Given the description of an element on the screen output the (x, y) to click on. 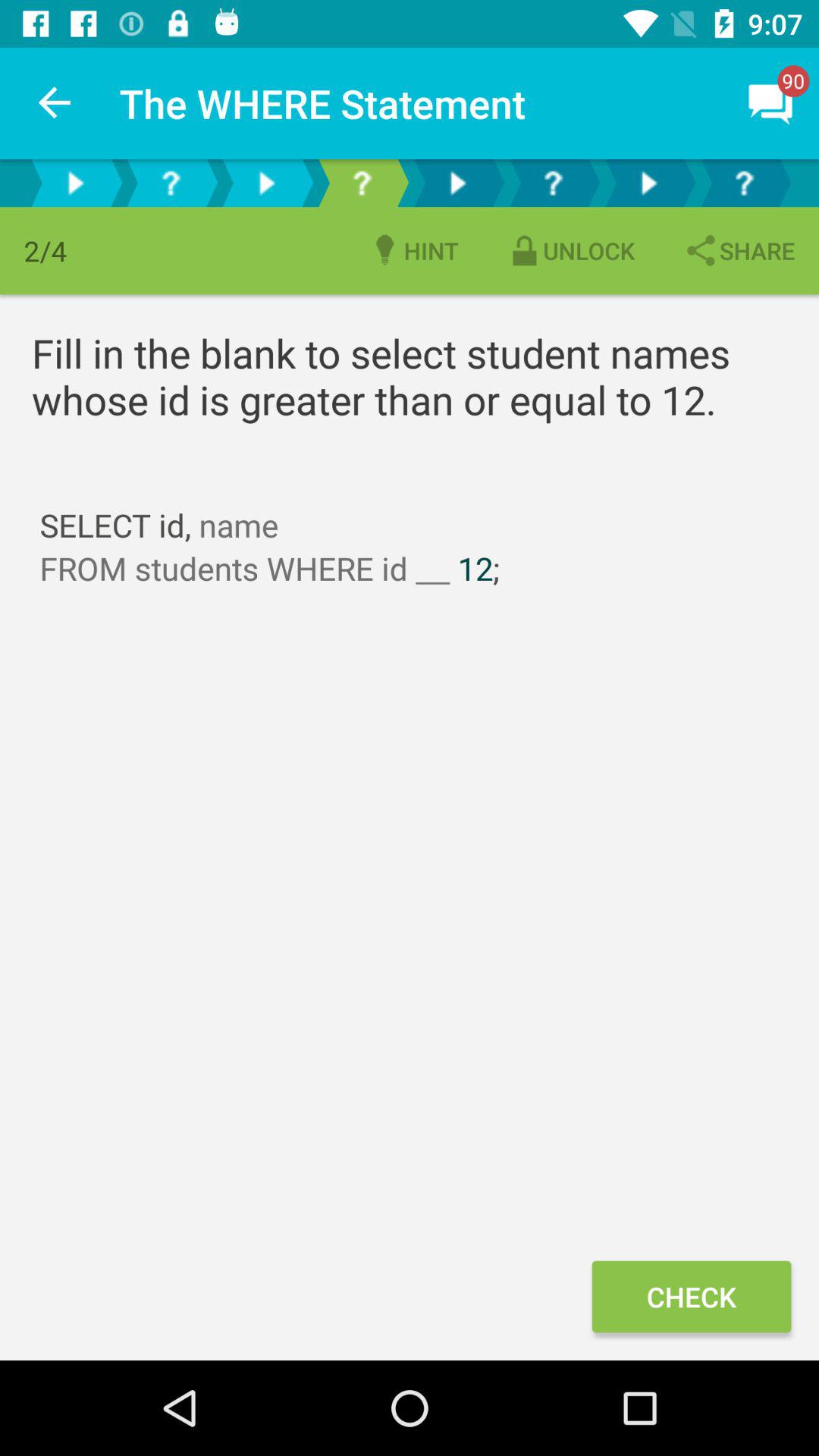
to move on the third question in a series of questions (552, 183)
